Given the description of an element on the screen output the (x, y) to click on. 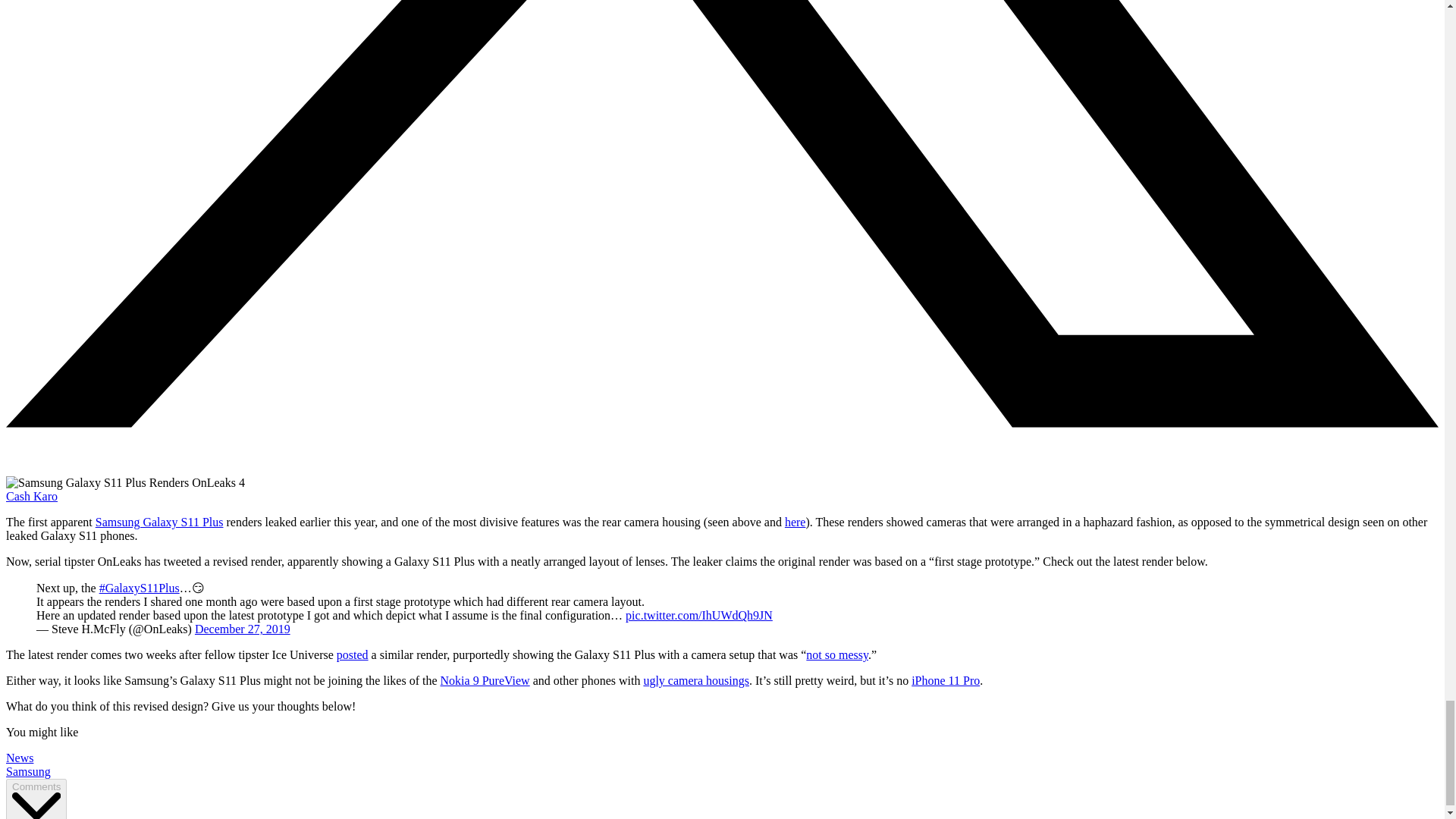
iPhone 11 Pro (945, 680)
Samsung Galaxy S11 Plus Renders OnLeaks 4 (124, 482)
December 27, 2019 (242, 628)
posted (352, 654)
Cash Karo (31, 495)
Nokia 9 PureView (485, 680)
Samsung (27, 771)
News (19, 757)
not so messy (836, 654)
Samsung Galaxy S11 Plus (160, 521)
